Given the description of an element on the screen output the (x, y) to click on. 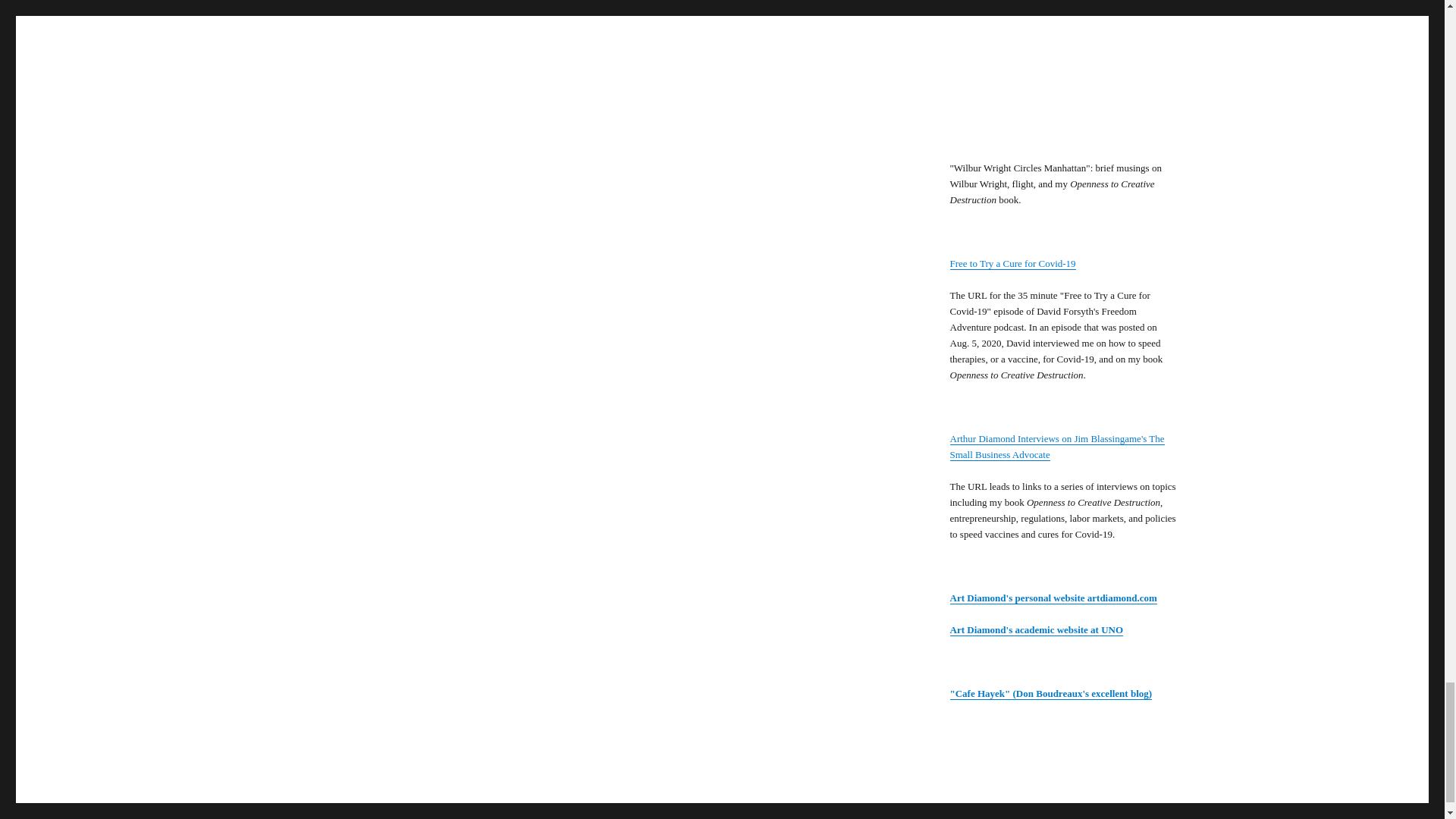
Free to Try a Cure for Covid-19 (1012, 263)
Art Diamond's personal website artdiamond.com (1052, 597)
Art Diamond's academic website at UNO (1035, 629)
